Given the description of an element on the screen output the (x, y) to click on. 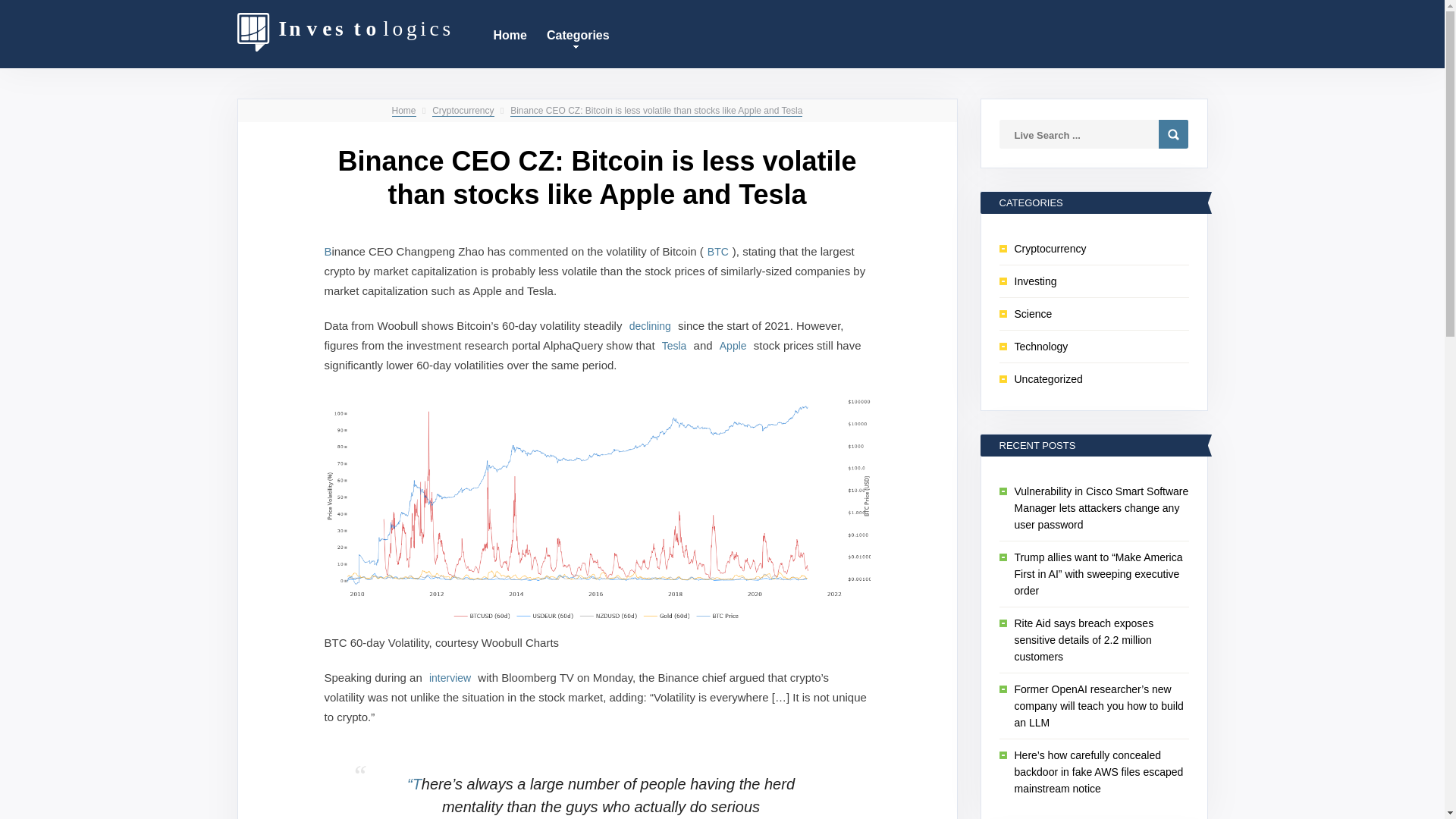
Tesla (674, 345)
interview (449, 676)
View all posts in Cryptocurrency (462, 111)
Cryptocurrency (462, 111)
Categories (577, 33)
declining (650, 325)
Home (509, 33)
Home (403, 111)
BTC (717, 250)
Apple (733, 345)
Search (1173, 133)
